Given the description of an element on the screen output the (x, y) to click on. 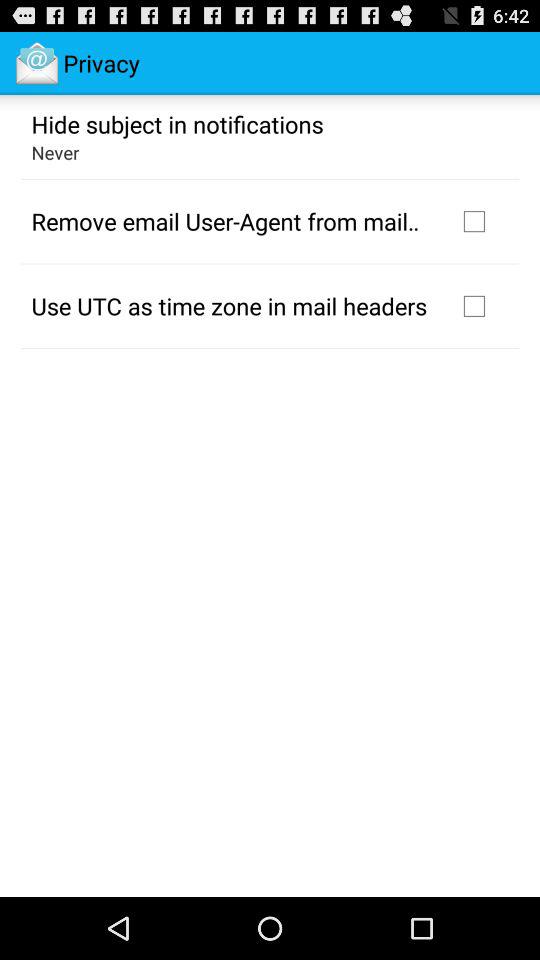
select icon above the use utc as (231, 221)
